Given the description of an element on the screen output the (x, y) to click on. 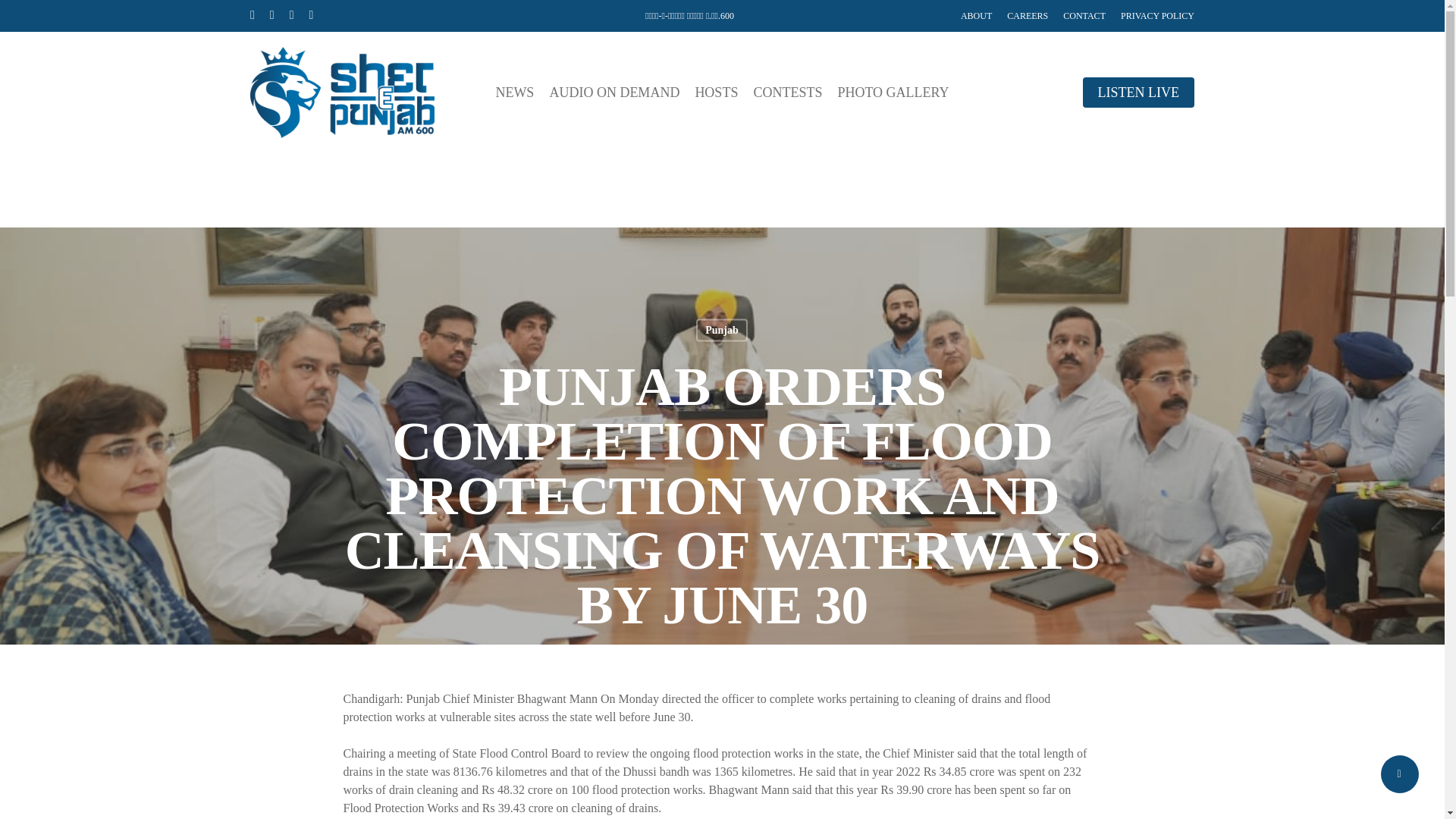
CAREERS (1027, 15)
Punjab (721, 329)
CONTACT (1083, 15)
HOSTS (716, 92)
CONTESTS (787, 92)
PRIVACY POLICY (1157, 15)
LISTEN LIVE (1138, 92)
ABOUT (975, 15)
NEWS (514, 92)
